Given the description of an element on the screen output the (x, y) to click on. 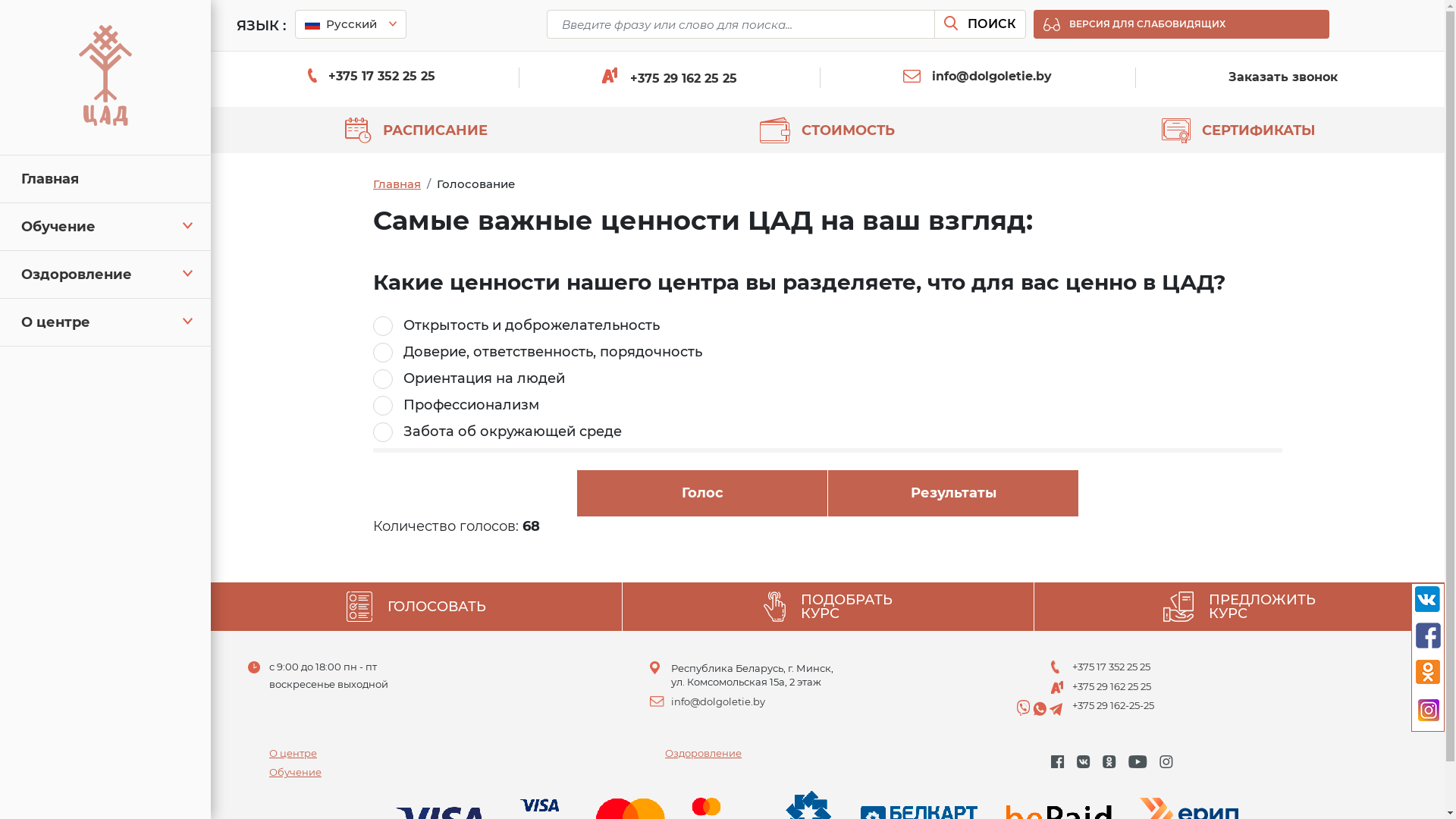
info@dolgoletie.by Element type: text (718, 701)
+375 29 162 25 25 Element type: text (669, 78)
info@dolgoletie.by Element type: text (977, 76)
+375 17 352 25 25 Element type: text (371, 76)
+375 17 352 25 25 Element type: text (1111, 666)
+375 29 162 25 25 Element type: text (1111, 686)
+375 29 162-25-25 Element type: text (1113, 705)
